Given the description of an element on the screen output the (x, y) to click on. 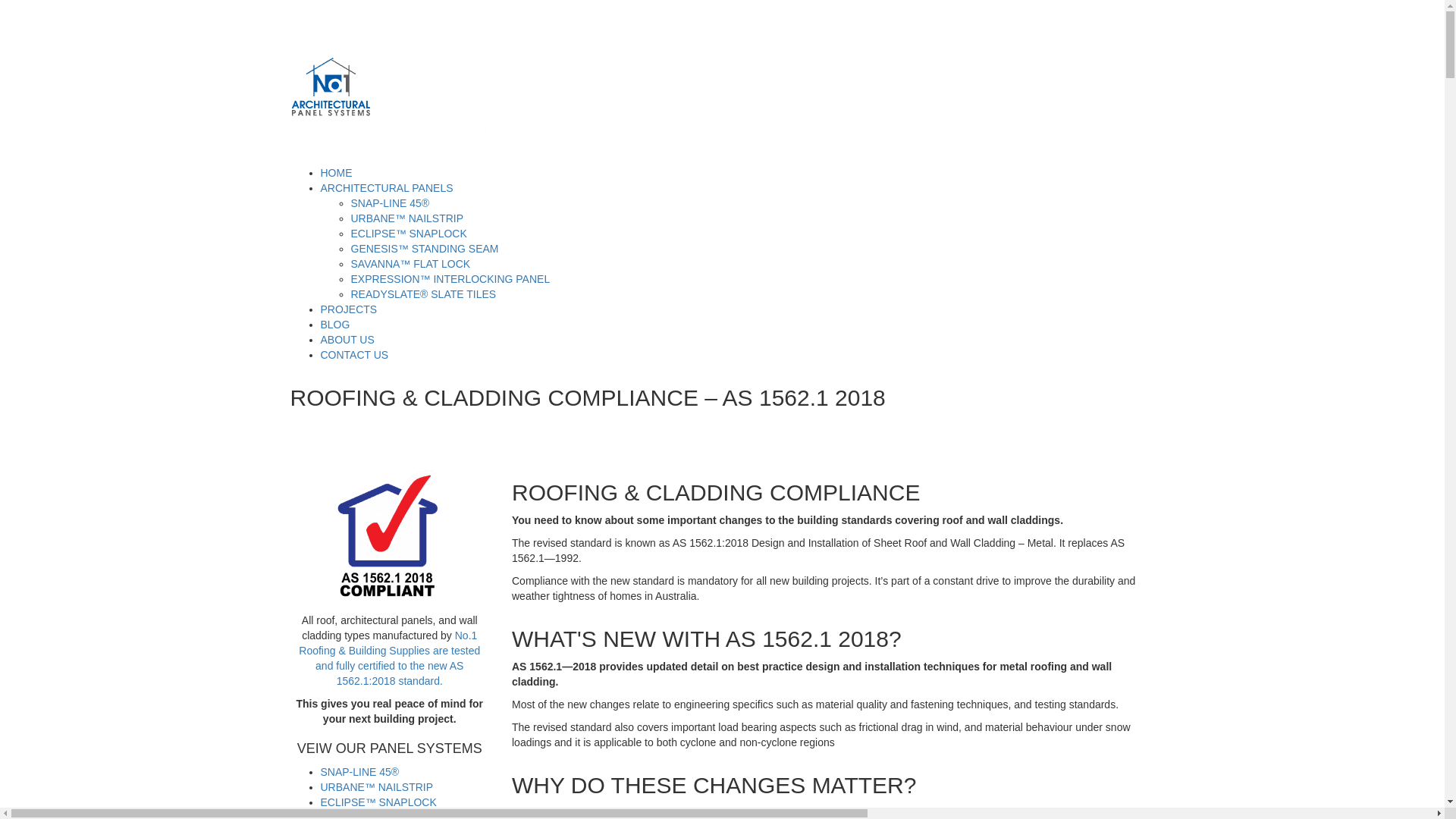
ABOUT US Element type: text (346, 339)
HOME Element type: text (335, 172)
AS1562.1-2018-Compliant-Roofing-Cladding Element type: hover (389, 534)
There is no equivalent Element type: hover (442, 86)
BLOG Element type: text (334, 324)
There is no equivalent Element type: hover (329, 86)
PROJECTS Element type: text (348, 309)
ARCHITECTURAL PANELS Element type: text (386, 188)
CONTACT US Element type: text (354, 354)
